Given the description of an element on the screen output the (x, y) to click on. 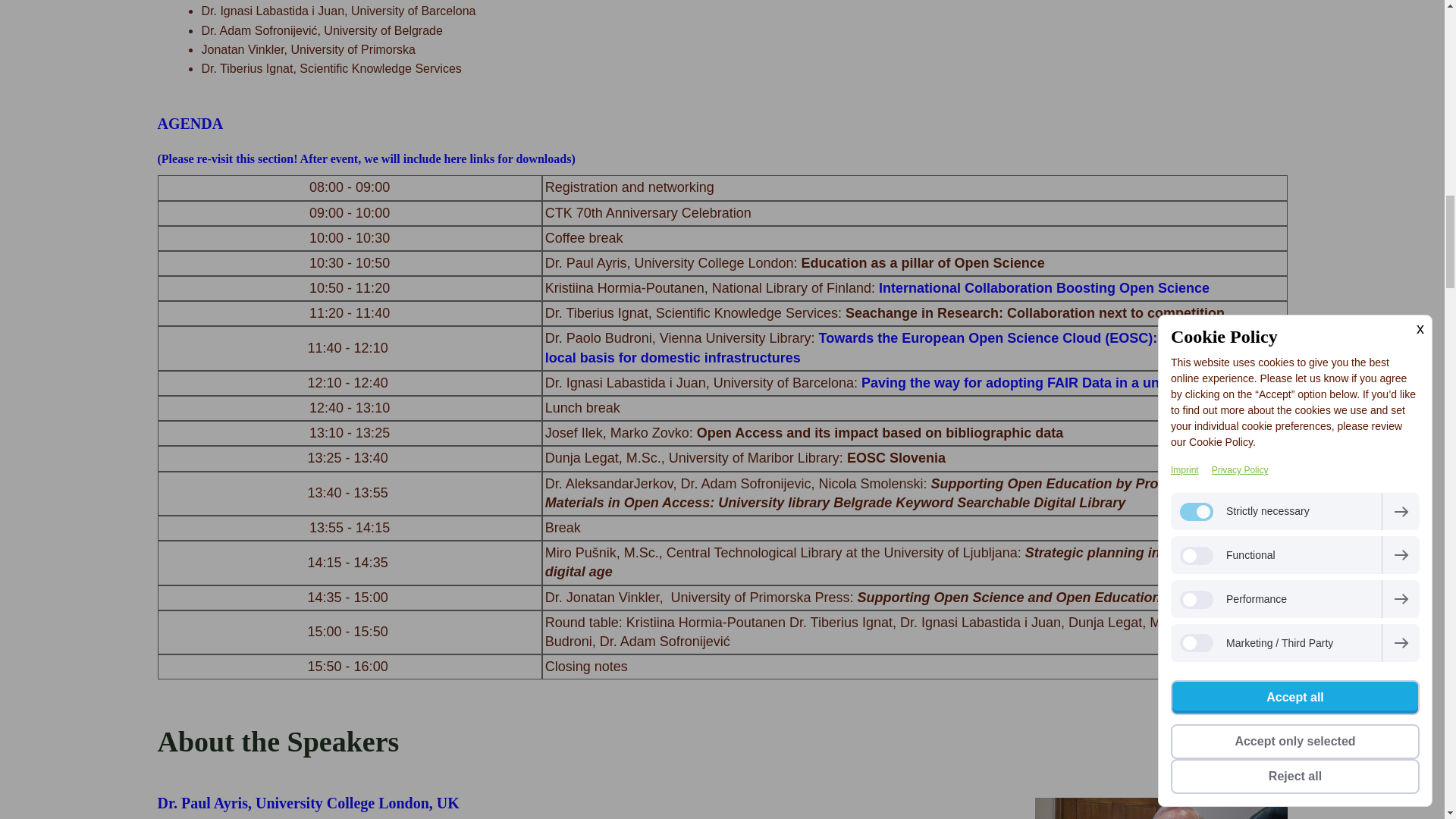
 International Collaboration Boosting Open Science (1042, 287)
Paving the way for adopting FAIR Data in a university (1034, 382)
